Given the description of an element on the screen output the (x, y) to click on. 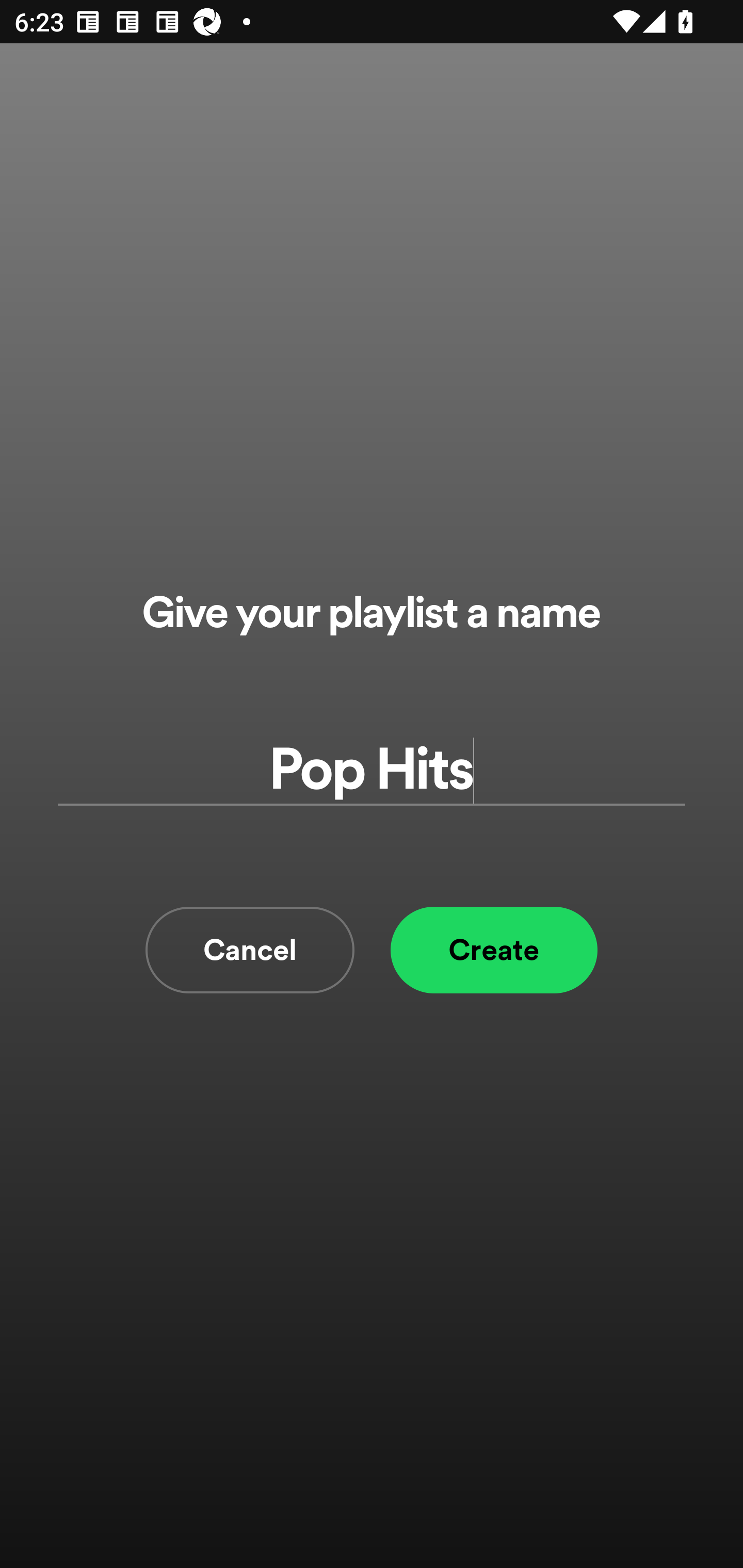
Pop Hits Add a playlist name (371, 769)
Cancel (249, 950)
Create (493, 950)
